Given the description of an element on the screen output the (x, y) to click on. 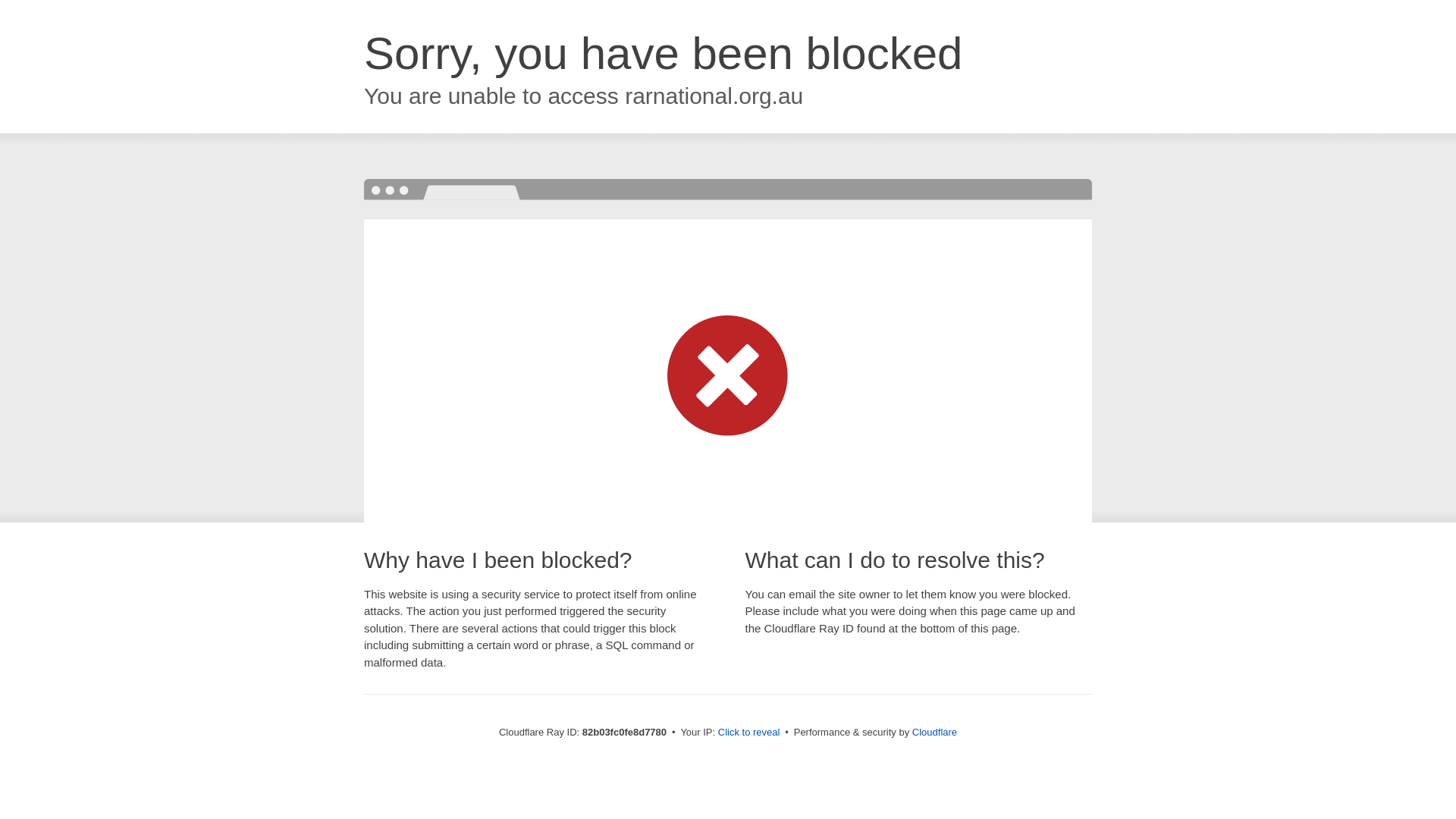
Cloudflare Element type: text (934, 731)
Click to reveal Element type: text (749, 732)
